Given the description of an element on the screen output the (x, y) to click on. 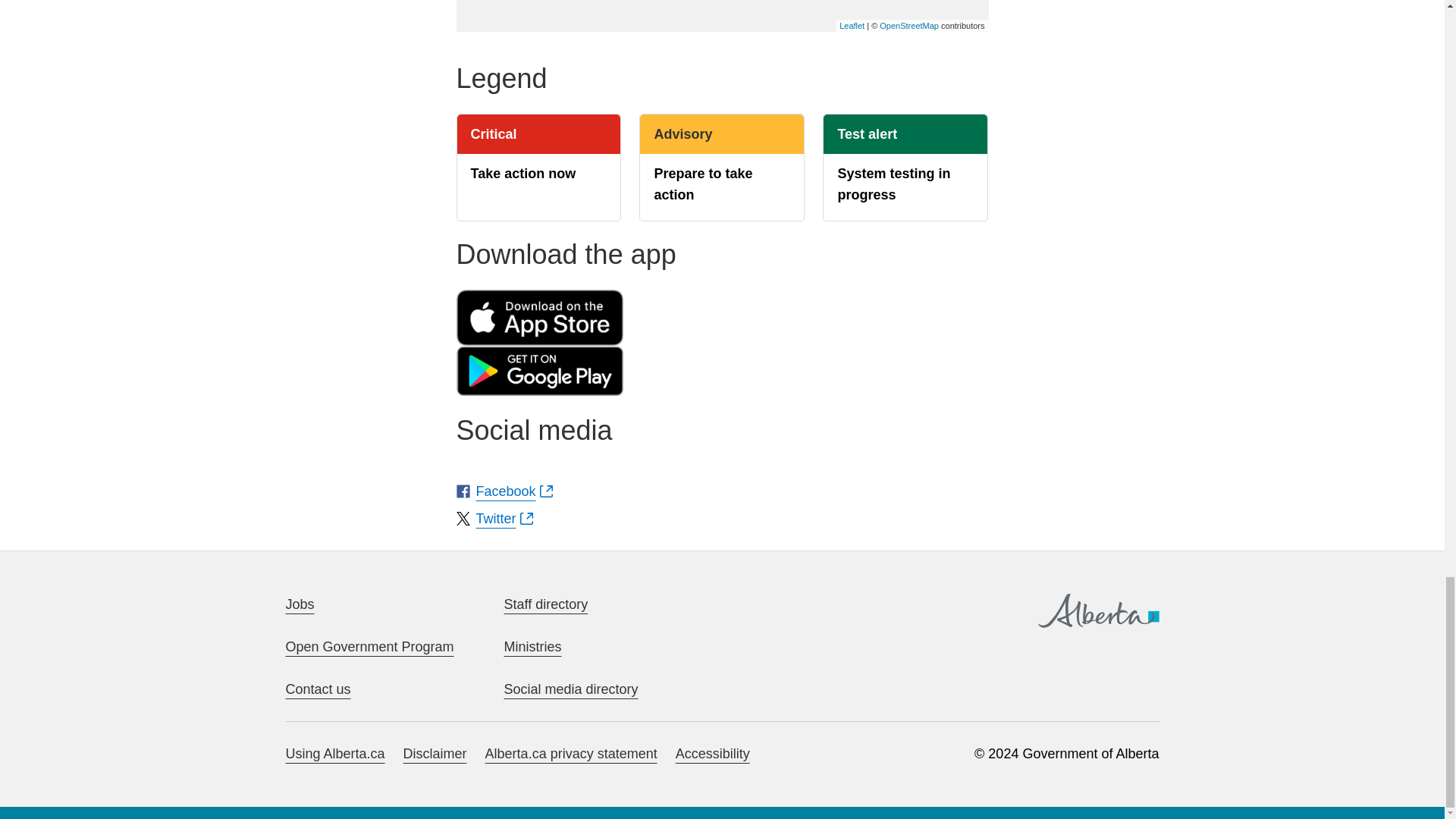
Twitter (494, 518)
Using Alberta.ca (334, 753)
Contact us (317, 688)
Staff directory (545, 604)
Ministries (531, 646)
Open Government Program (368, 646)
A JS library for interactive maps (852, 25)
Jobs (299, 604)
Leaflet (852, 25)
OpenStreetMap (909, 25)
